Given the description of an element on the screen output the (x, y) to click on. 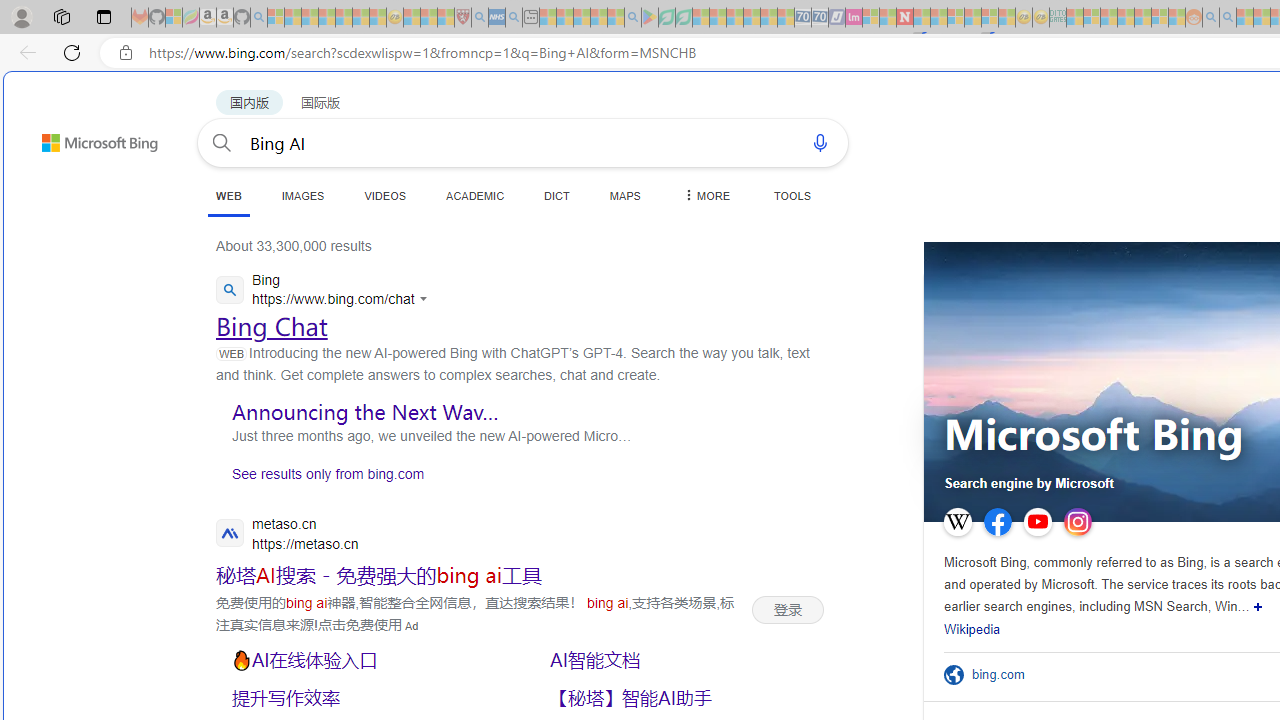
Microsoft Bing (1094, 436)
SERP,5517 (365, 659)
DICT (557, 195)
DITOGAMES AG Imprint - Sleeping (1057, 17)
The Weather Channel - MSN - Sleeping (309, 17)
New Report Confirms 2023 Was Record Hot | Watch - Sleeping (343, 17)
WEB (228, 195)
google - Search - Sleeping (632, 17)
Utah sues federal government - Search - Sleeping (1227, 17)
